Given the description of an element on the screen output the (x, y) to click on. 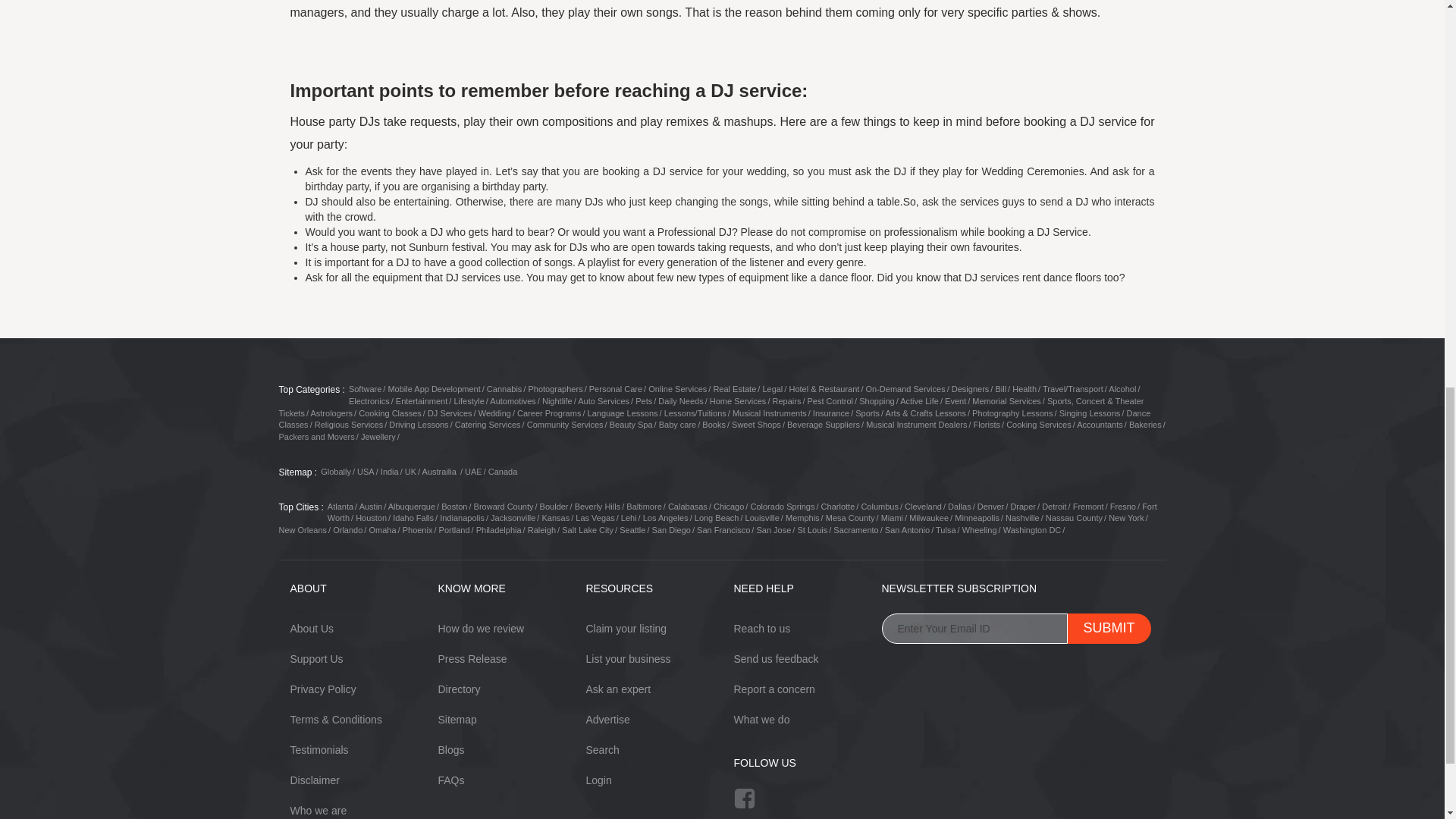
Who we are (317, 810)
What we do (761, 719)
